Given the description of an element on the screen output the (x, y) to click on. 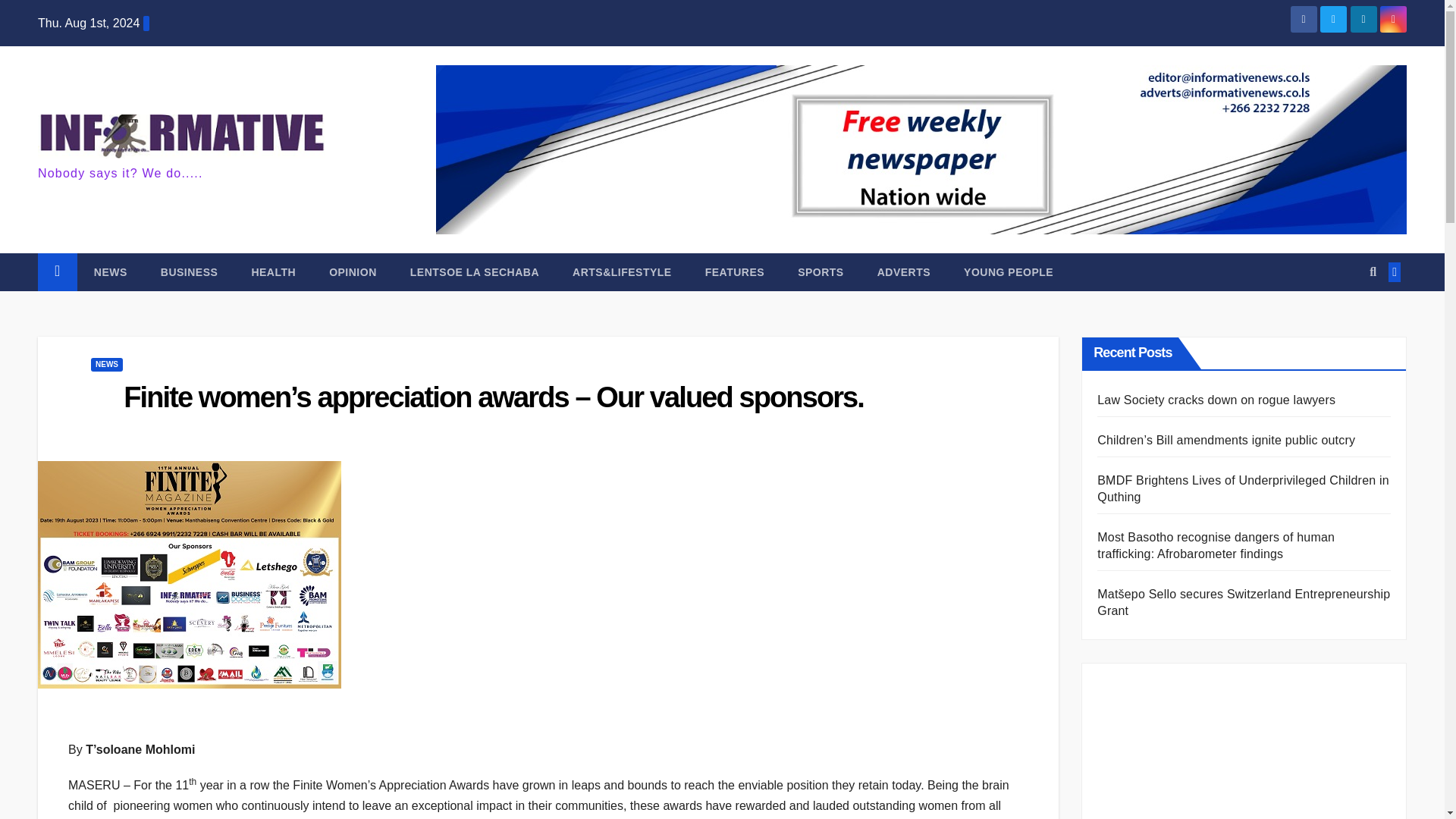
NEWS (110, 272)
Opinion (353, 272)
Sports (820, 272)
FEATURES (734, 272)
LENTSOE LA SECHABA (474, 272)
NEWS (106, 364)
SPORTS (820, 272)
YOUNG PEOPLE (1008, 272)
News (110, 272)
BMDF Brightens Lives of Underprivileged Children in Quthing (1243, 488)
BUSINESS (189, 272)
OPINION (353, 272)
Features (734, 272)
HEALTH (273, 272)
Business (189, 272)
